Given the description of an element on the screen output the (x, y) to click on. 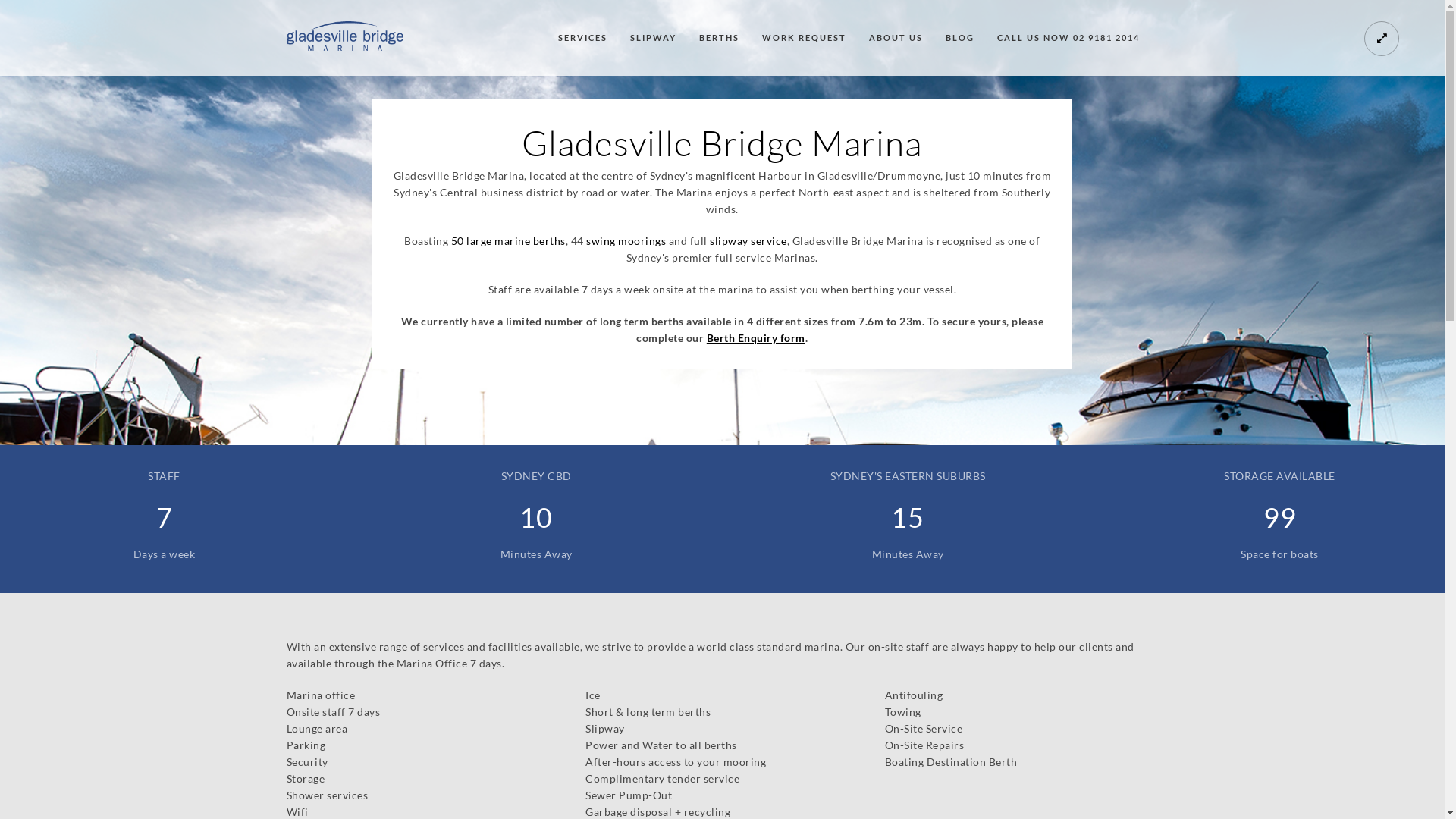
BERTHS Element type: text (719, 37)
SERVICES Element type: text (582, 37)
WORK REQUEST Element type: text (803, 37)
CALL US NOW 02 9181 2014 Element type: text (1067, 37)
slipway service Element type: text (748, 240)
BLOG Element type: text (958, 37)
Berth Enquiry form Element type: text (755, 337)
ABOUT US Element type: text (895, 37)
SLIPWAY Element type: text (652, 37)
50 large marine berths Element type: text (508, 240)
swing moorings Element type: text (625, 240)
